Given the description of an element on the screen output the (x, y) to click on. 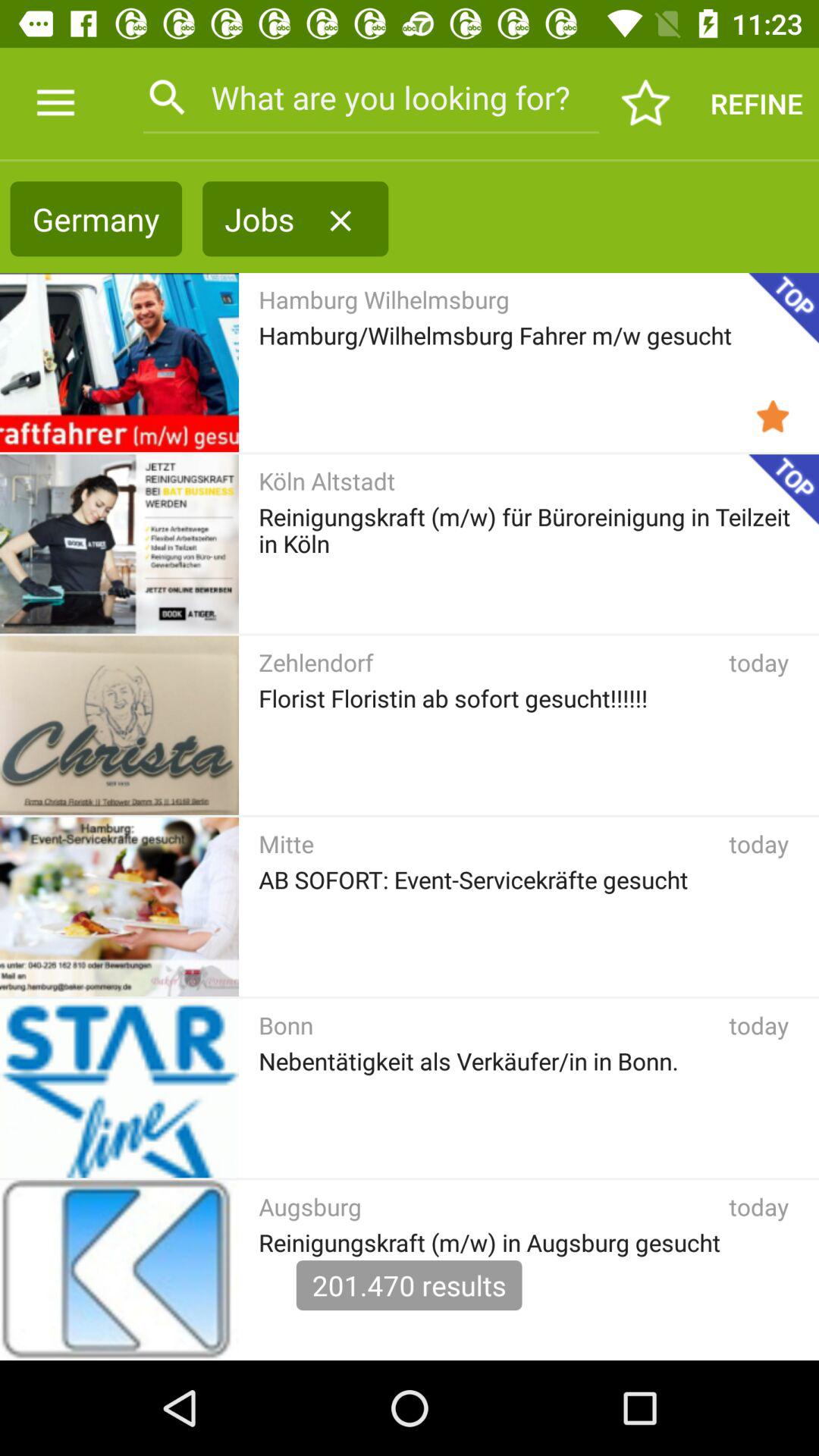
click icon next to the what are you (55, 103)
